Given the description of an element on the screen output the (x, y) to click on. 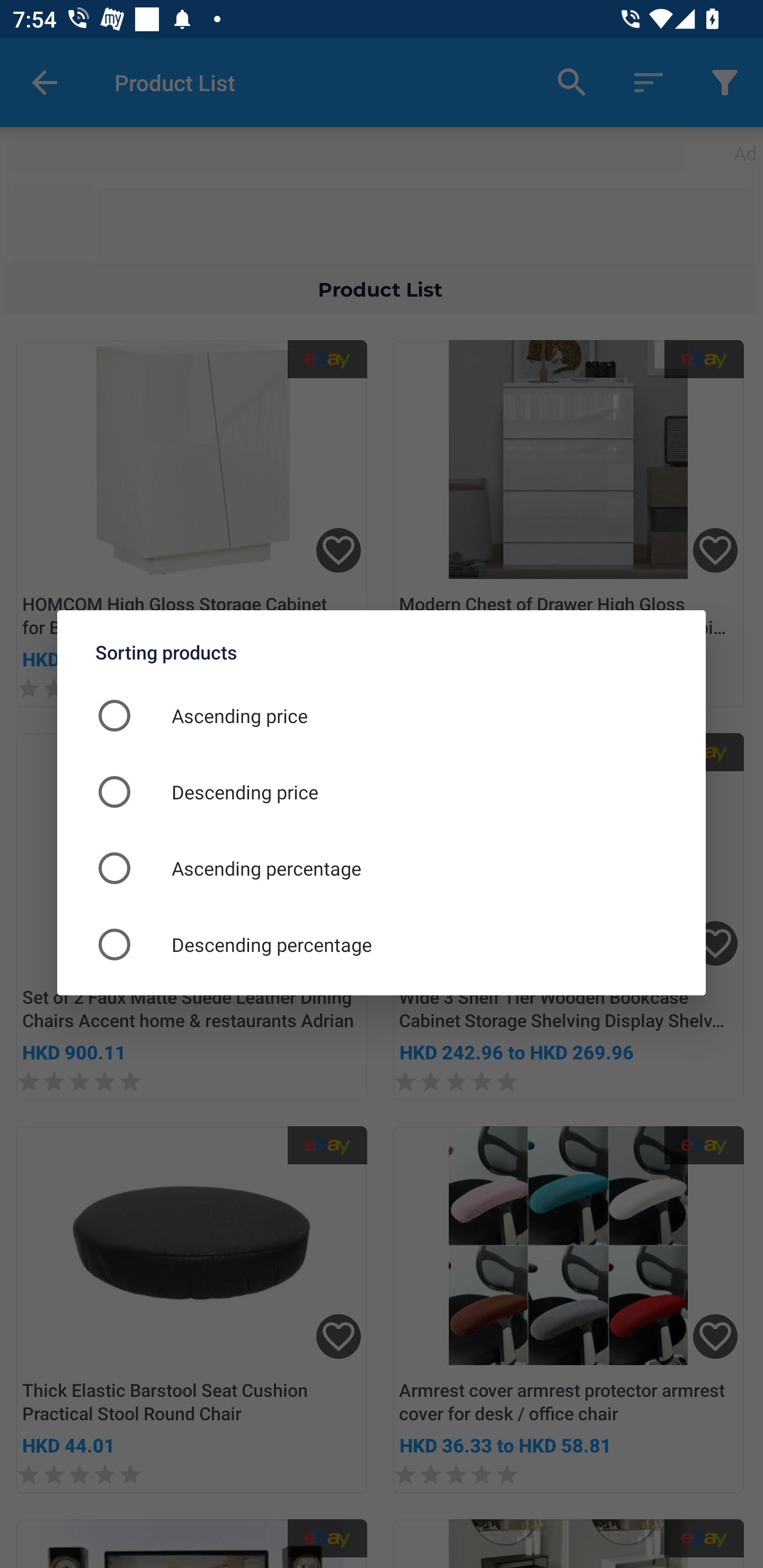
Ascending price (381, 715)
Descending price (381, 791)
Ascending percentage (381, 867)
Descending percentage (381, 944)
